Given the description of an element on the screen output the (x, y) to click on. 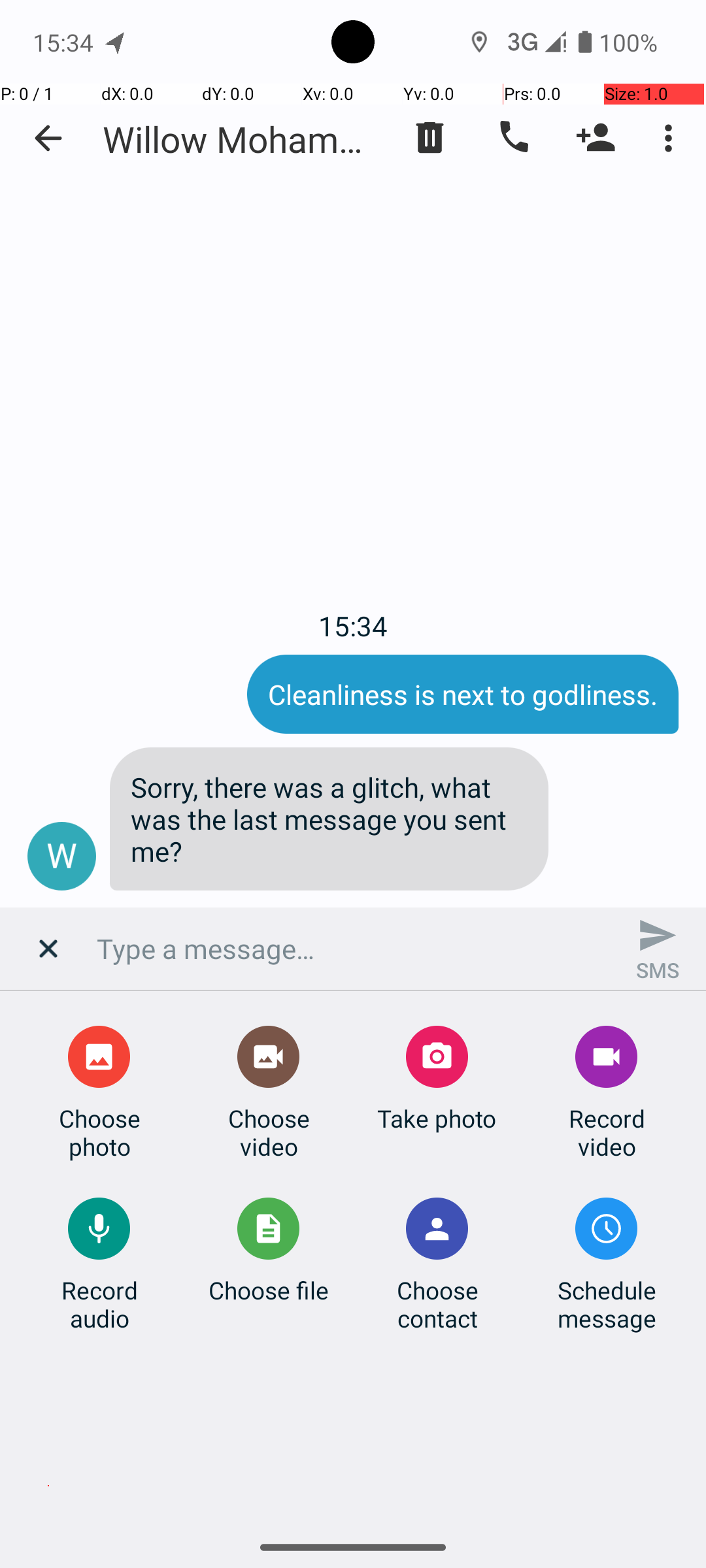
Willow Mohammed Element type: android.widget.TextView (241, 138)
Cleanliness is next to godliness. Element type: android.widget.TextView (462, 693)
Sorry, there was a glitch, what was the last message you sent me? Element type: android.widget.TextView (328, 818)
Choose photo Element type: android.widget.TextView (98, 1131)
Choose video Element type: android.widget.TextView (268, 1131)
Take photo Element type: android.widget.TextView (436, 1117)
Record video Element type: android.widget.TextView (606, 1131)
Record audio Element type: android.widget.TextView (98, 1303)
Choose file Element type: android.widget.TextView (268, 1289)
Choose contact Element type: android.widget.TextView (436, 1303)
Schedule message Element type: android.widget.TextView (606, 1303)
